Given the description of an element on the screen output the (x, y) to click on. 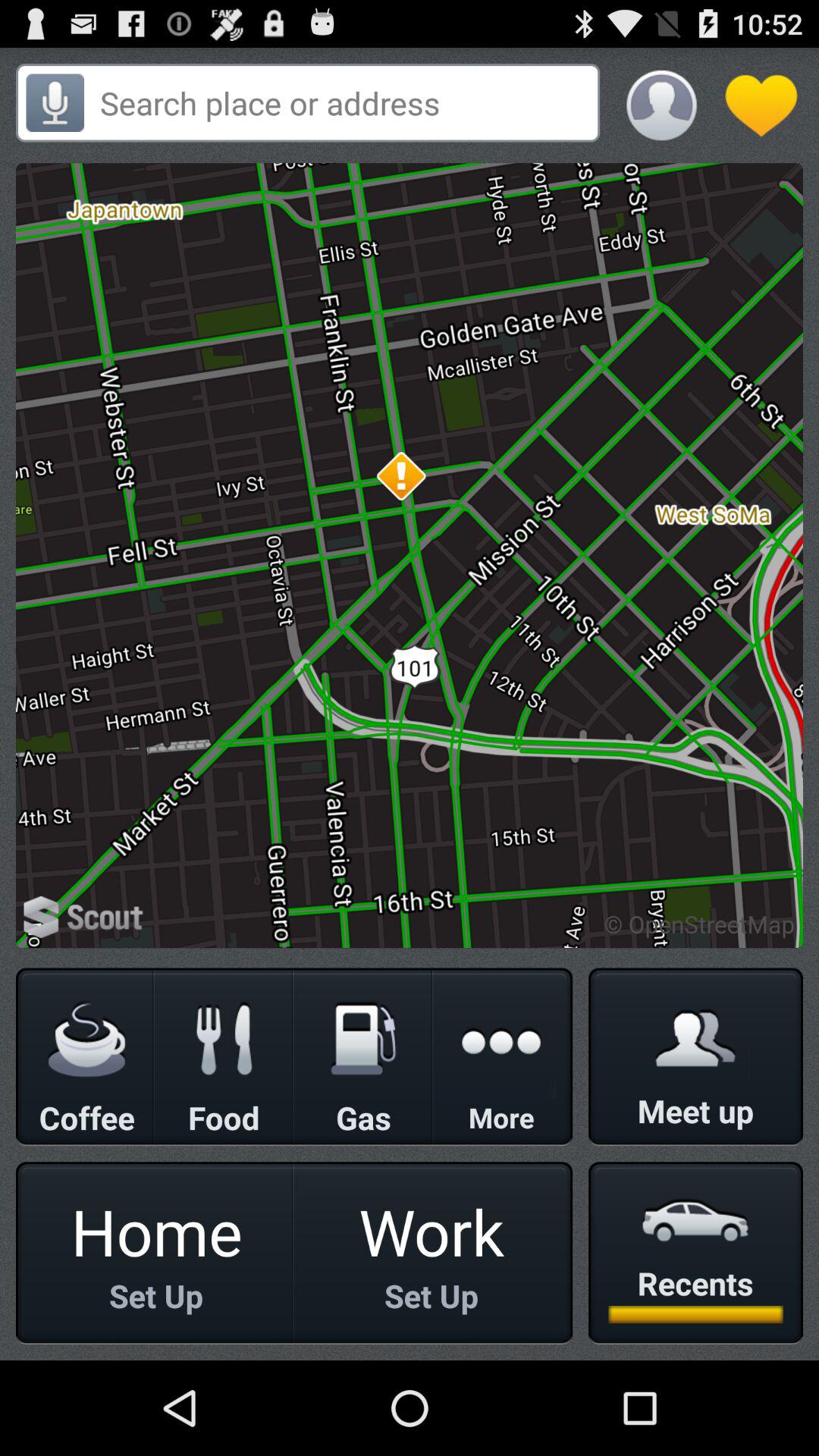
seach (344, 102)
